Given the description of an element on the screen output the (x, y) to click on. 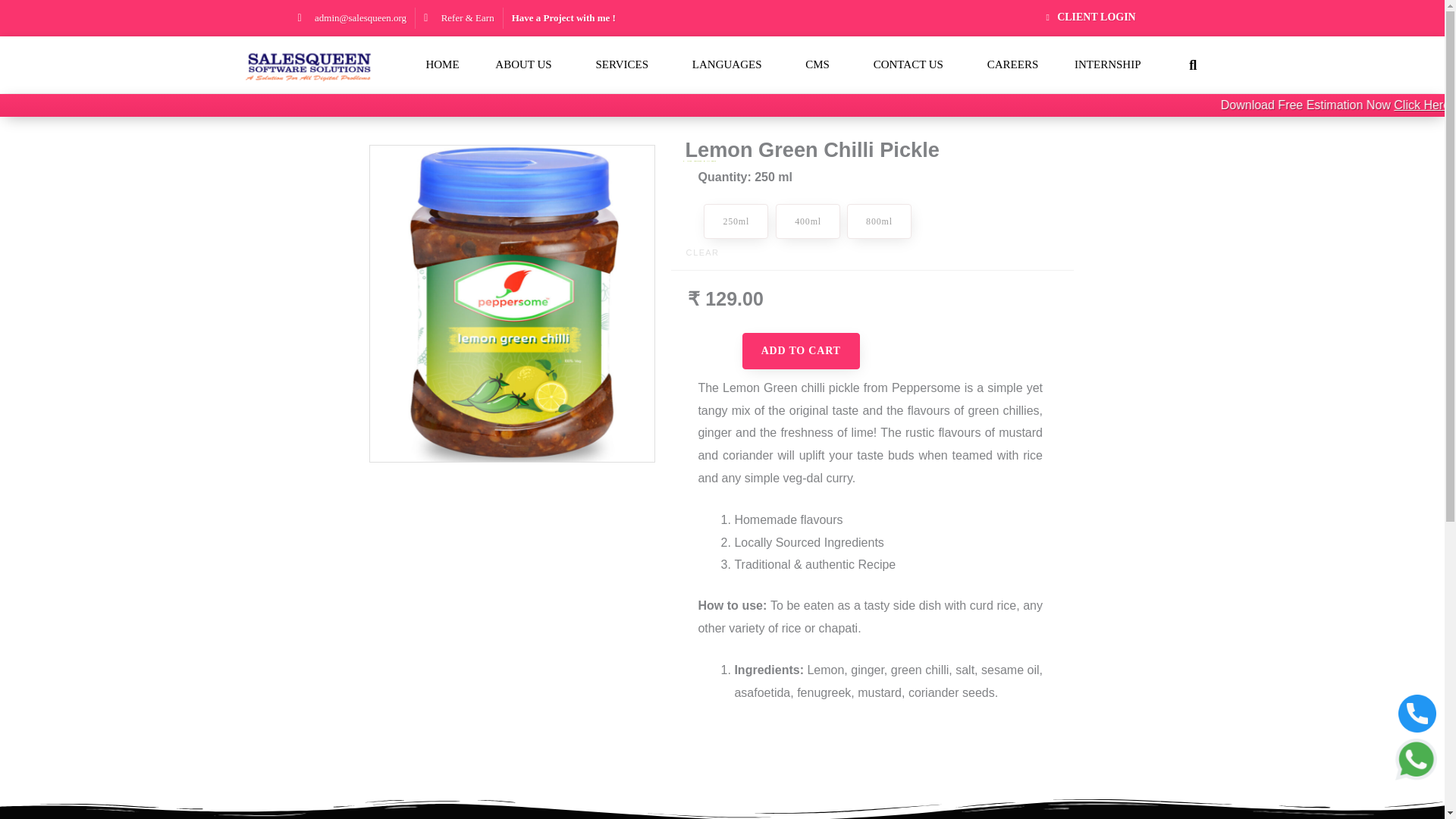
Have a Project with me ! (563, 17)
HOME (442, 64)
CLIENT LOGIN (1087, 17)
ABOUT US (526, 64)
SERVICES (626, 64)
